Given the description of an element on the screen output the (x, y) to click on. 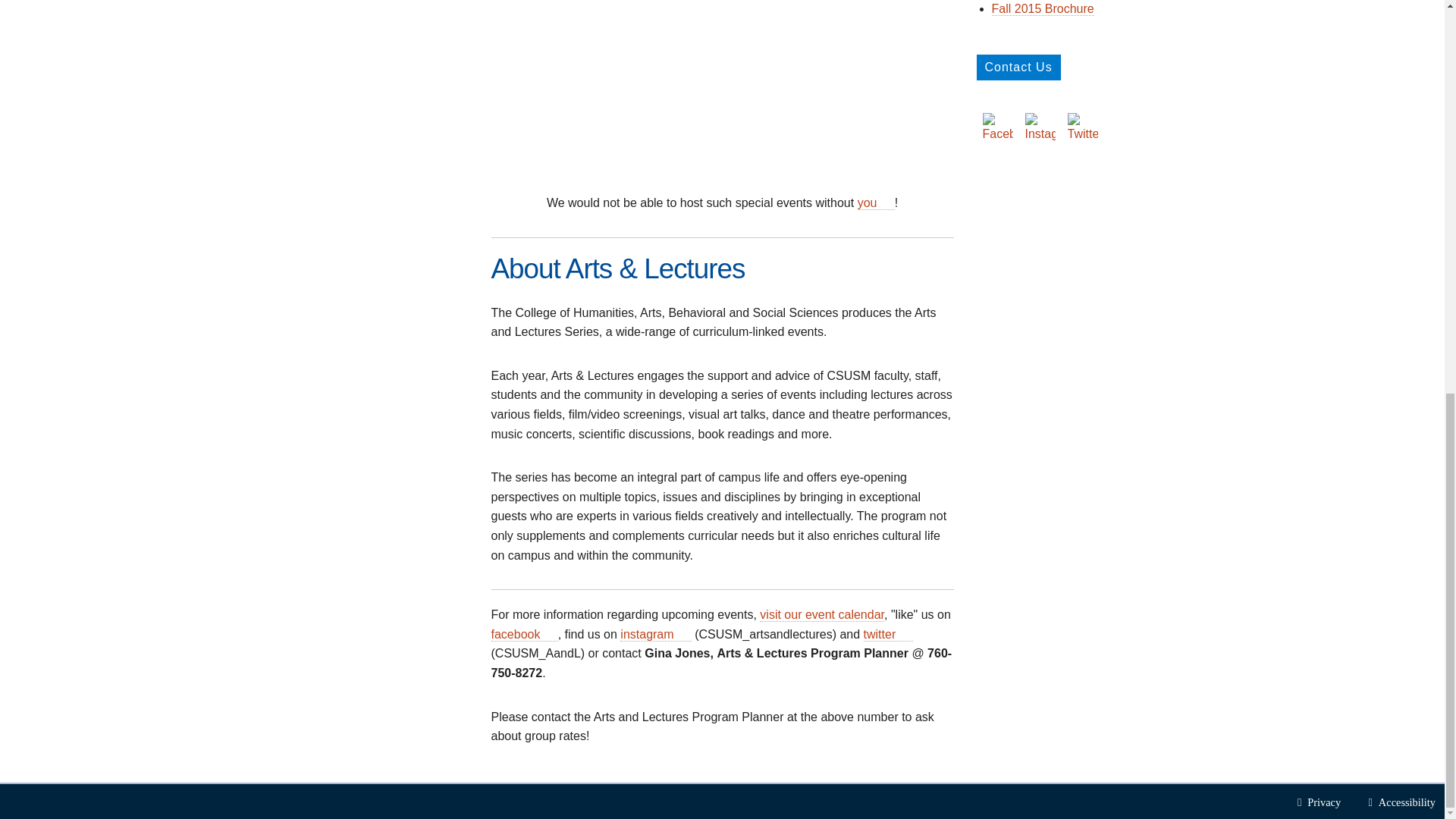
instagram - External website (655, 634)
twitter - External website (906, 633)
facebook - External website (551, 633)
twitter - External website (888, 634)
facebook - External website (524, 634)
north - External website (876, 202)
instagram - External website (685, 633)
north  (722, 84)
north - External website (888, 202)
